Given the description of an element on the screen output the (x, y) to click on. 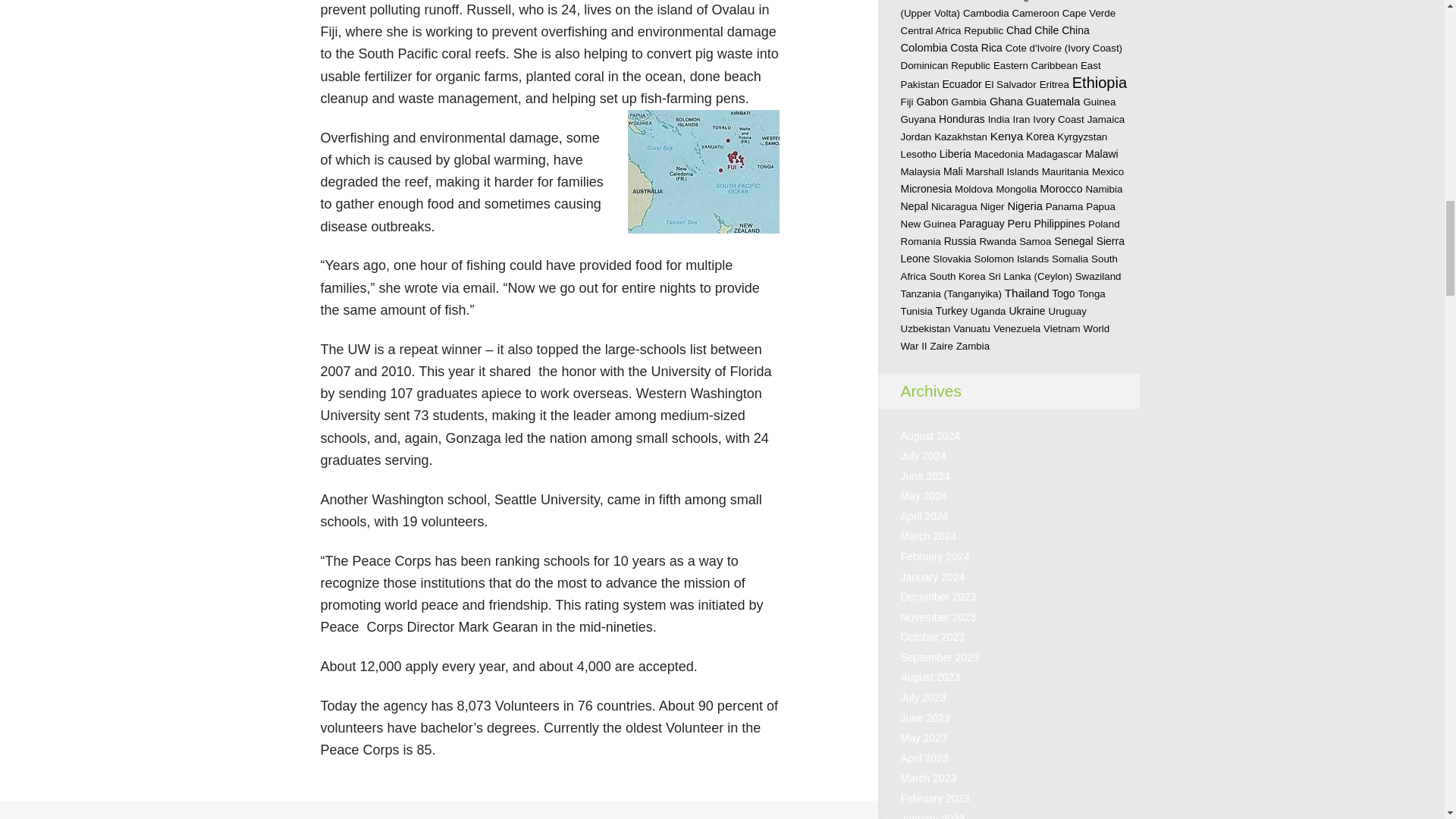
9 topics (992, 0)
6 topics (1027, 0)
12 topics (955, 0)
12 topics (915, 0)
